Given the description of an element on the screen output the (x, y) to click on. 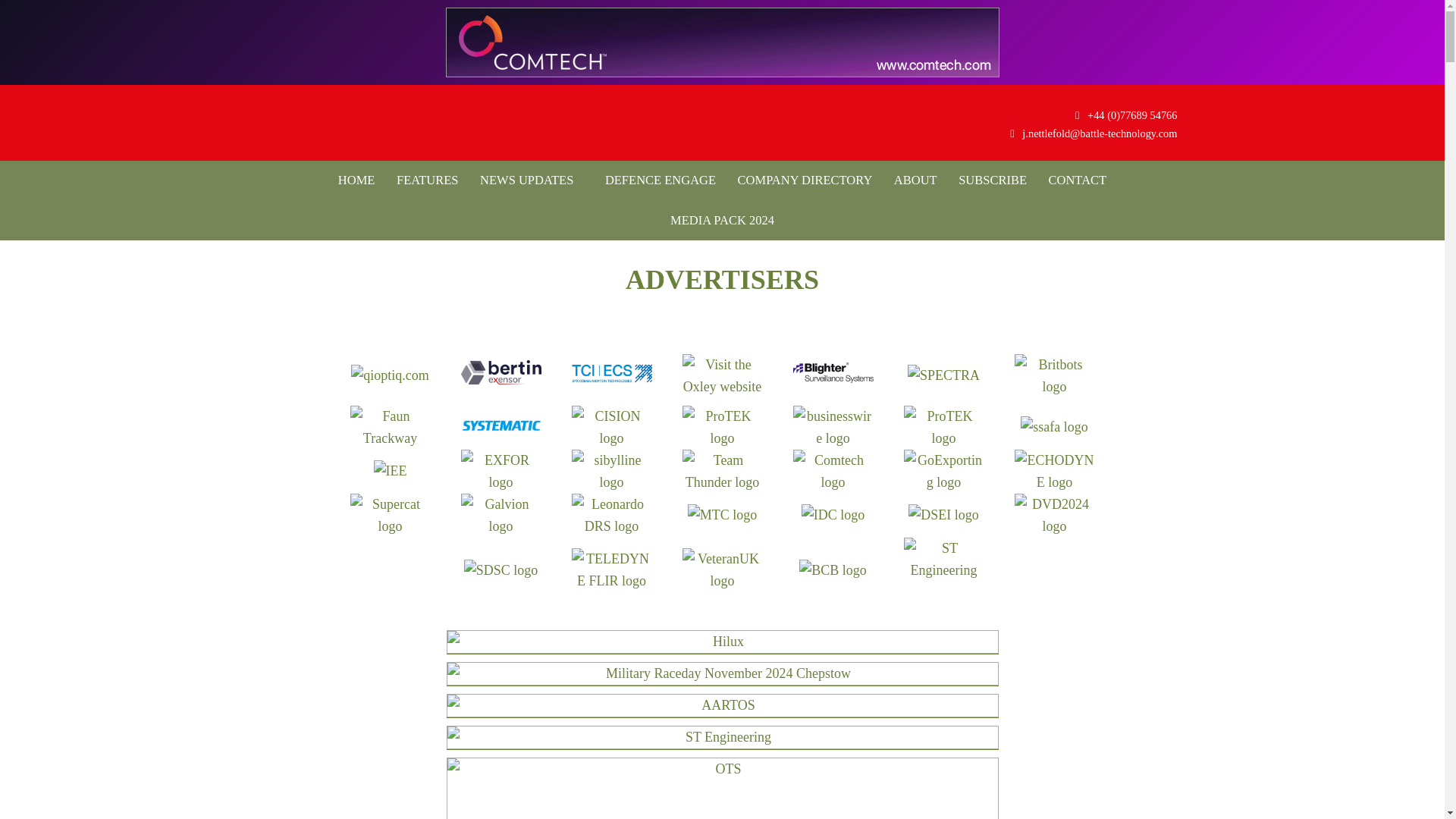
CONTACT (1077, 180)
Opens PDF in new window. (722, 219)
qioptiq.com (389, 375)
DEFENCE ENGAGE (655, 180)
NEWS UPDATES (526, 180)
SUBSCRIBE (992, 180)
MEDIA PACK 2024 (722, 219)
COMPANY DIRECTORY (805, 180)
FEATURES (427, 180)
BATTLESPACE Updates (380, 122)
